Given the description of an element on the screen output the (x, y) to click on. 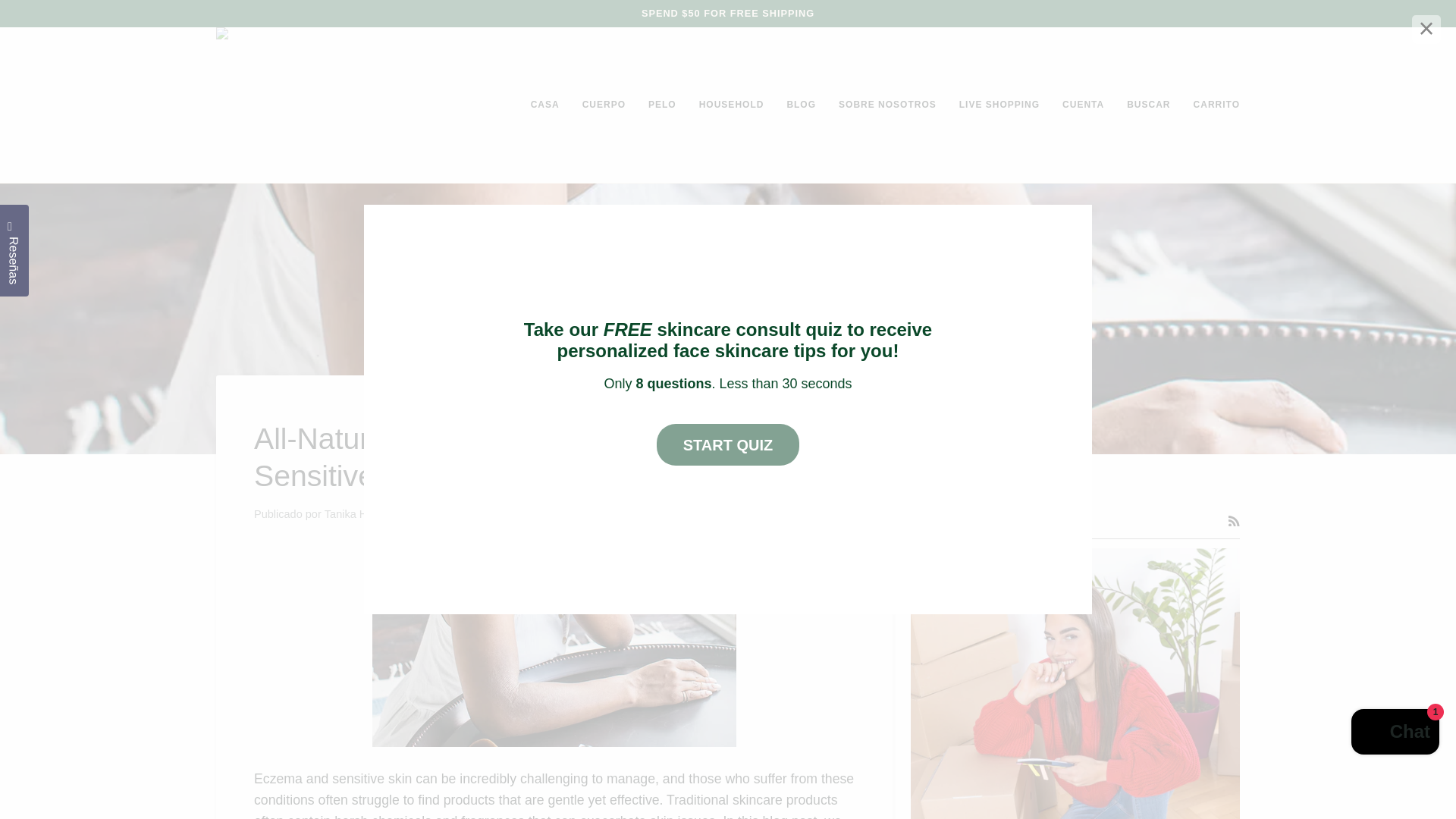
Chat de la tienda online Shopify (1395, 733)
